Given the description of an element on the screen output the (x, y) to click on. 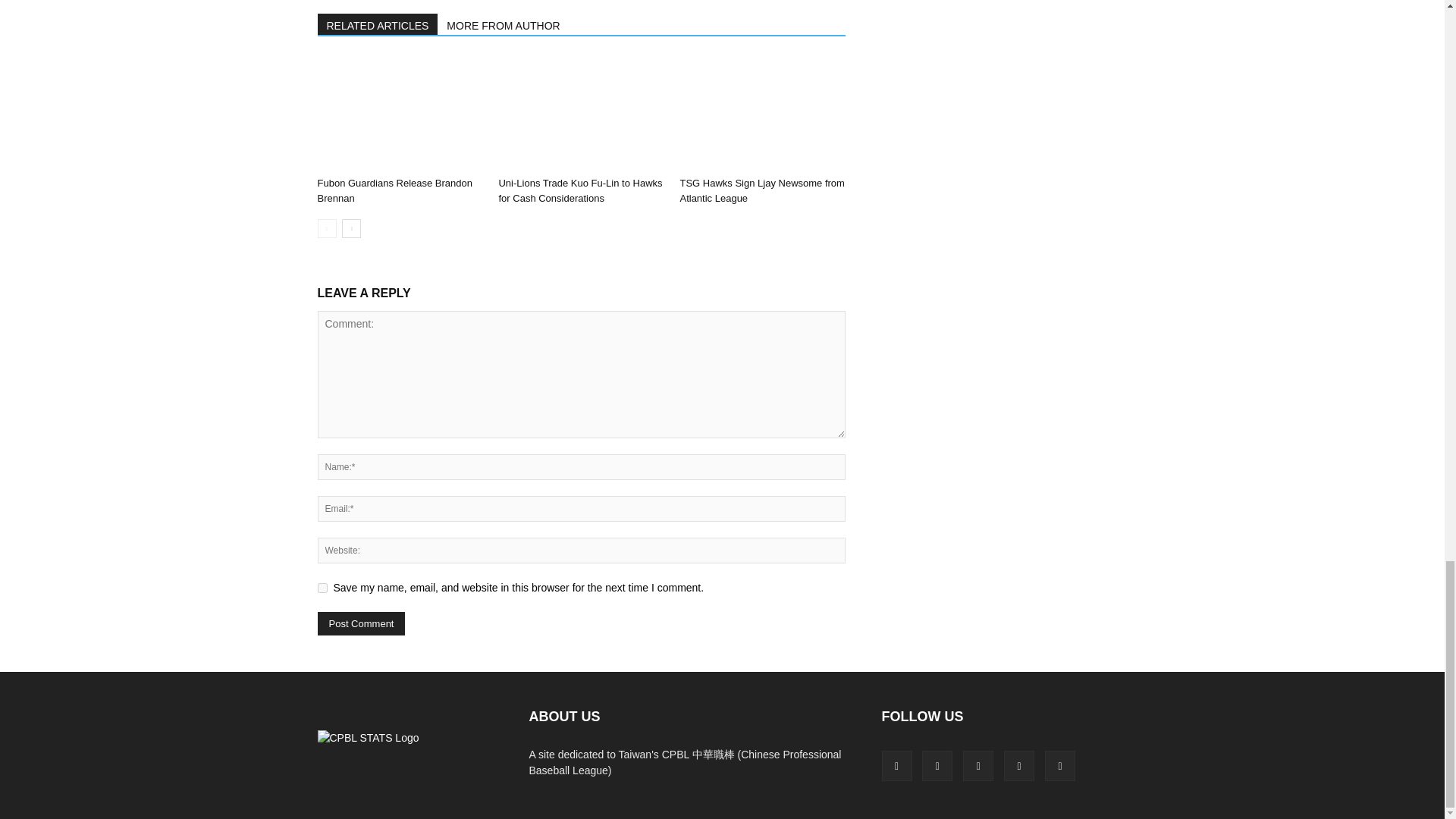
yes (321, 587)
Post Comment (360, 623)
